Given the description of an element on the screen output the (x, y) to click on. 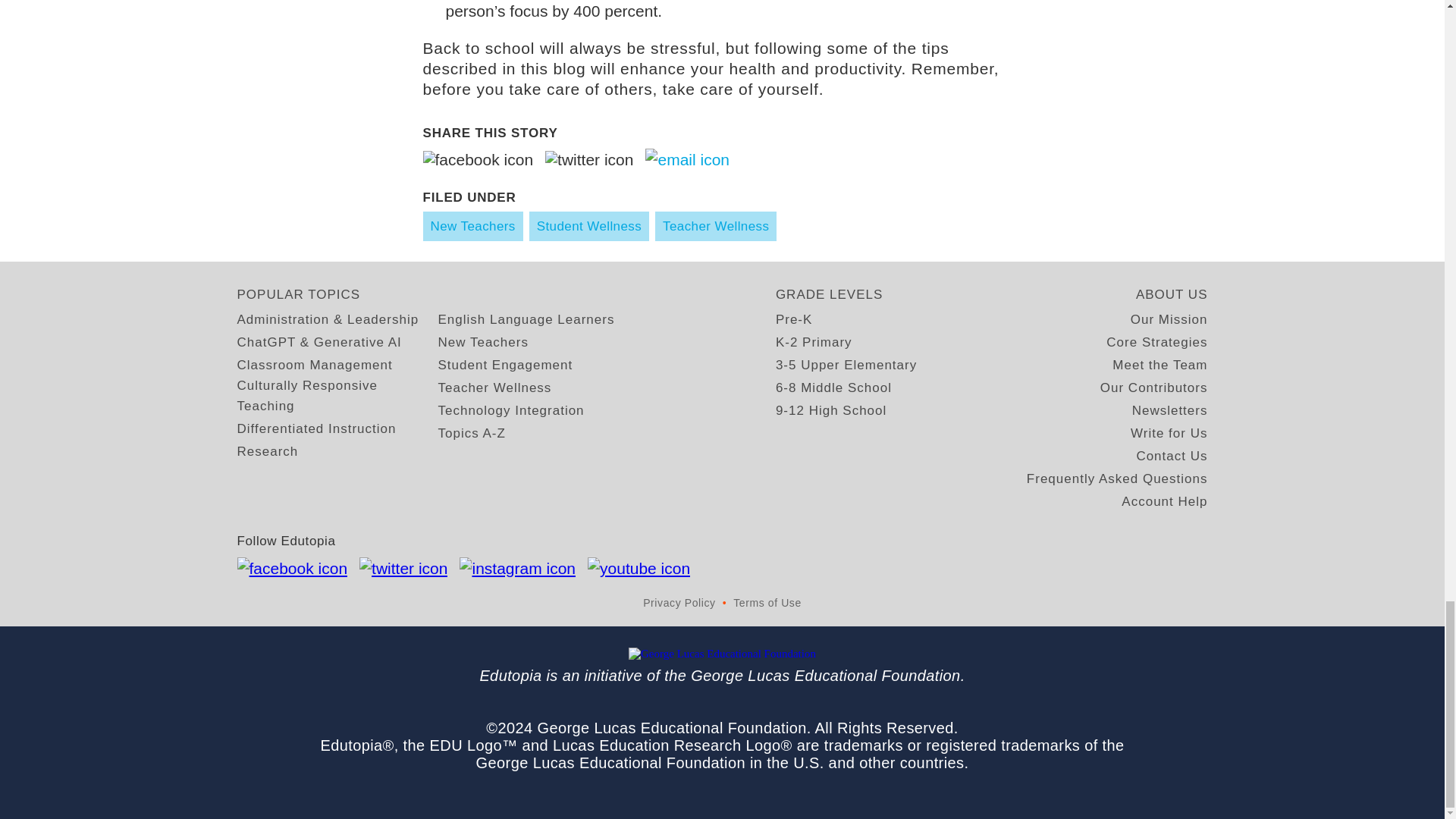
New Teachers (483, 342)
Culturally Responsive Teaching (336, 395)
New Teachers (472, 225)
Differentiated Instruction (315, 428)
Student Wellness (589, 225)
Classroom Management (313, 364)
Research (266, 451)
Teacher Wellness (715, 225)
English Language Learners (526, 319)
